Given the description of an element on the screen output the (x, y) to click on. 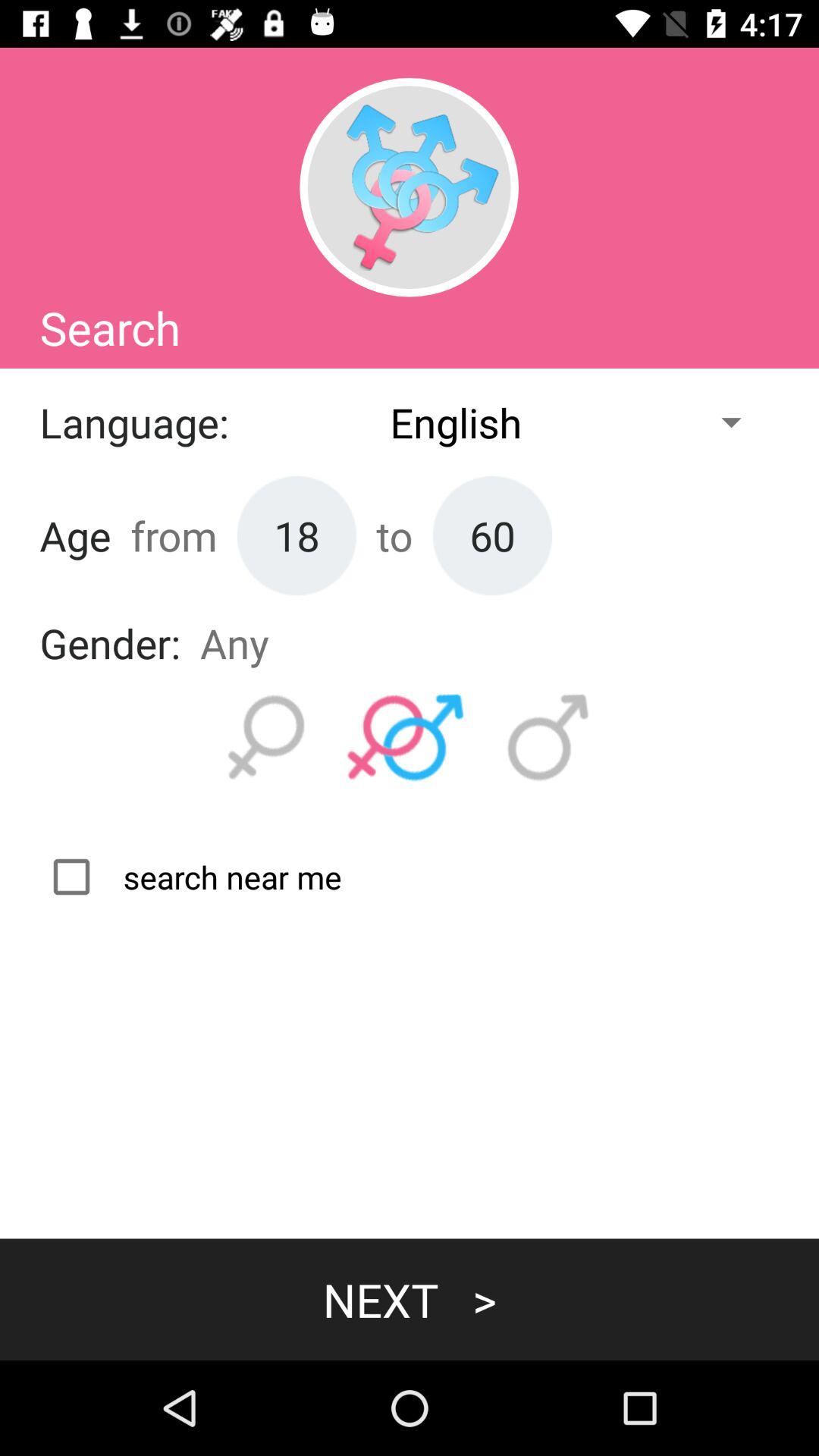
for any gender (405, 738)
